Given the description of an element on the screen output the (x, y) to click on. 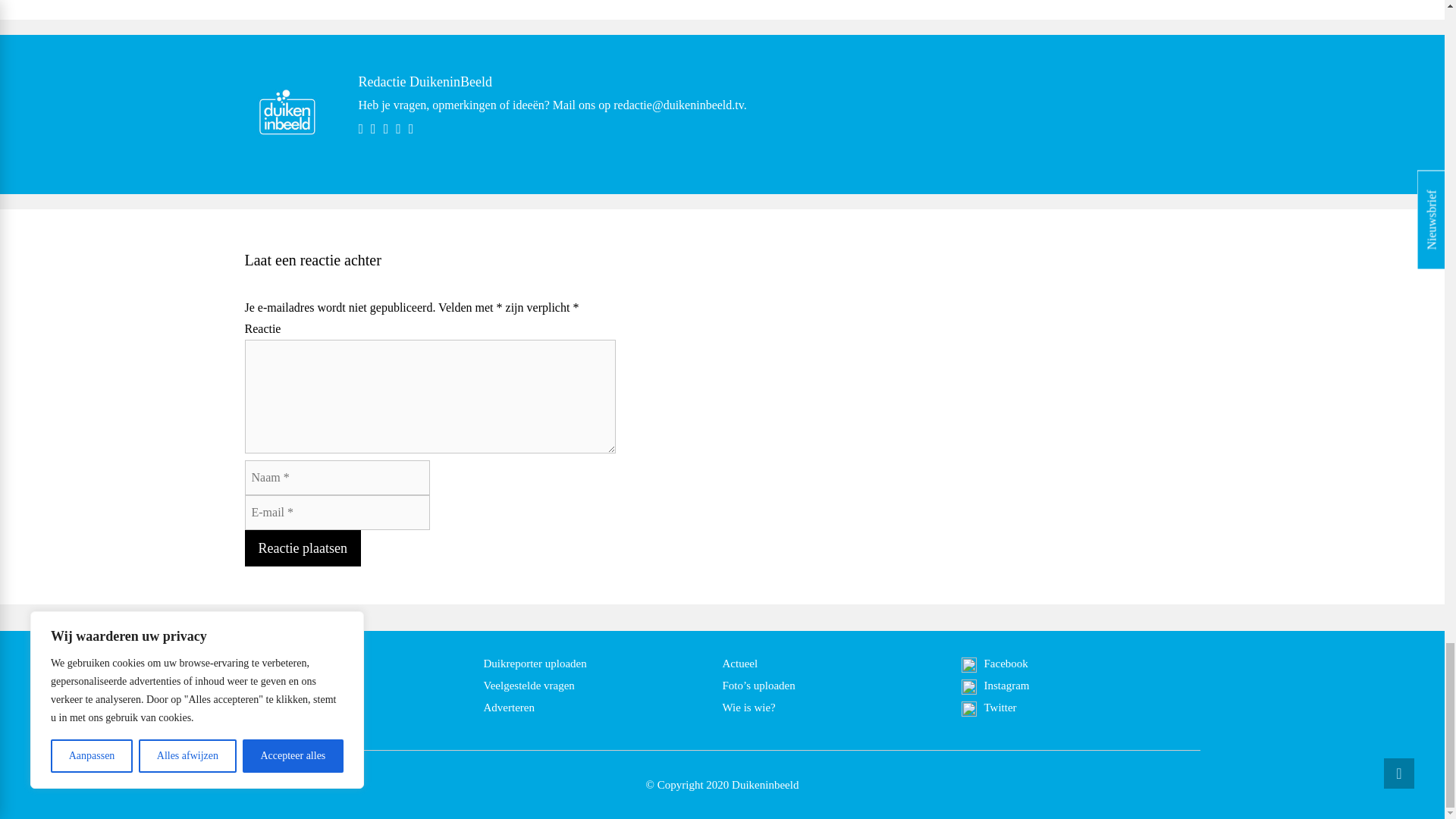
Reactie plaatsen (301, 547)
